Given the description of an element on the screen output the (x, y) to click on. 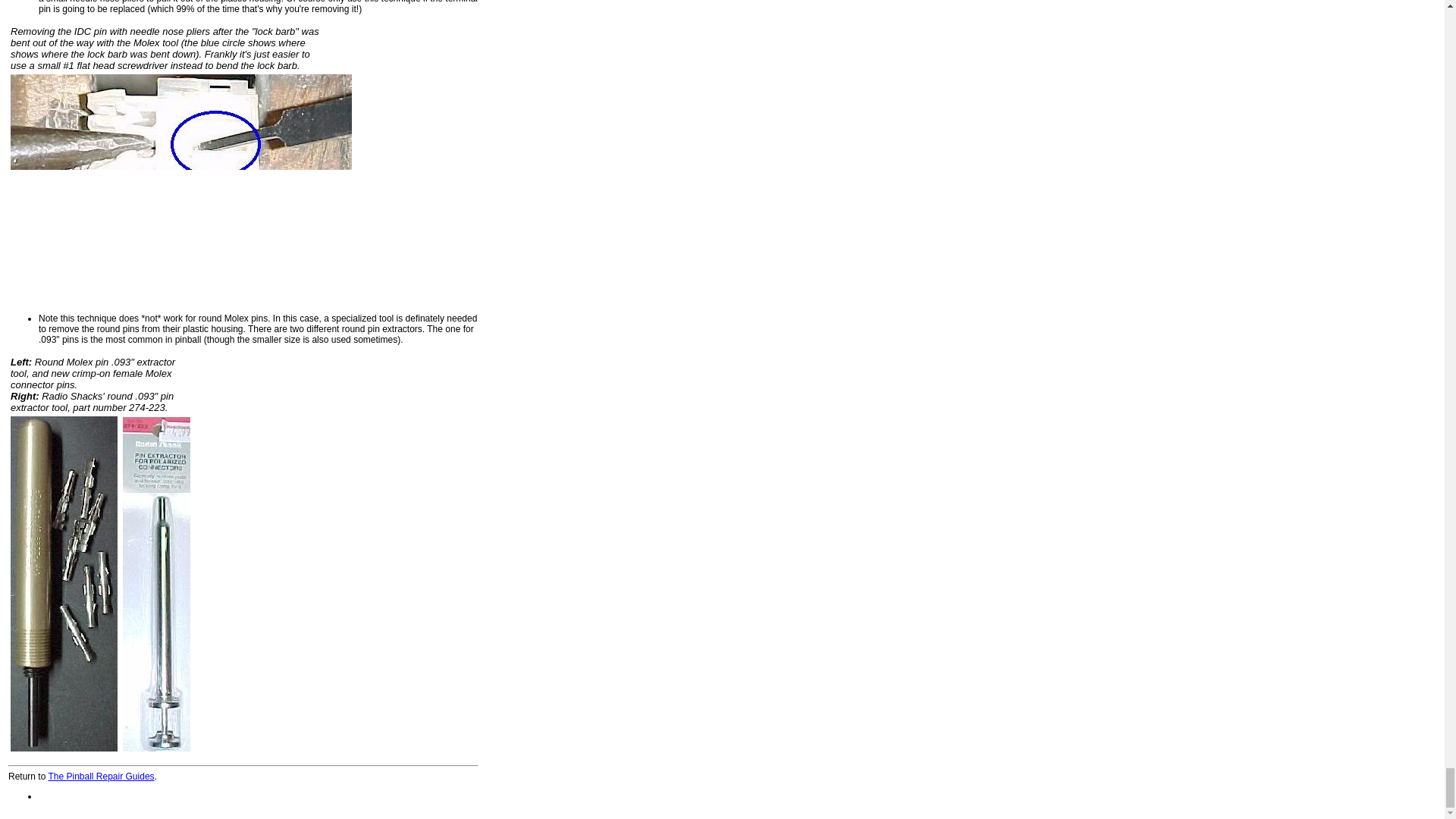
The Pinball Repair Guides (101, 776)
